Given the description of an element on the screen output the (x, y) to click on. 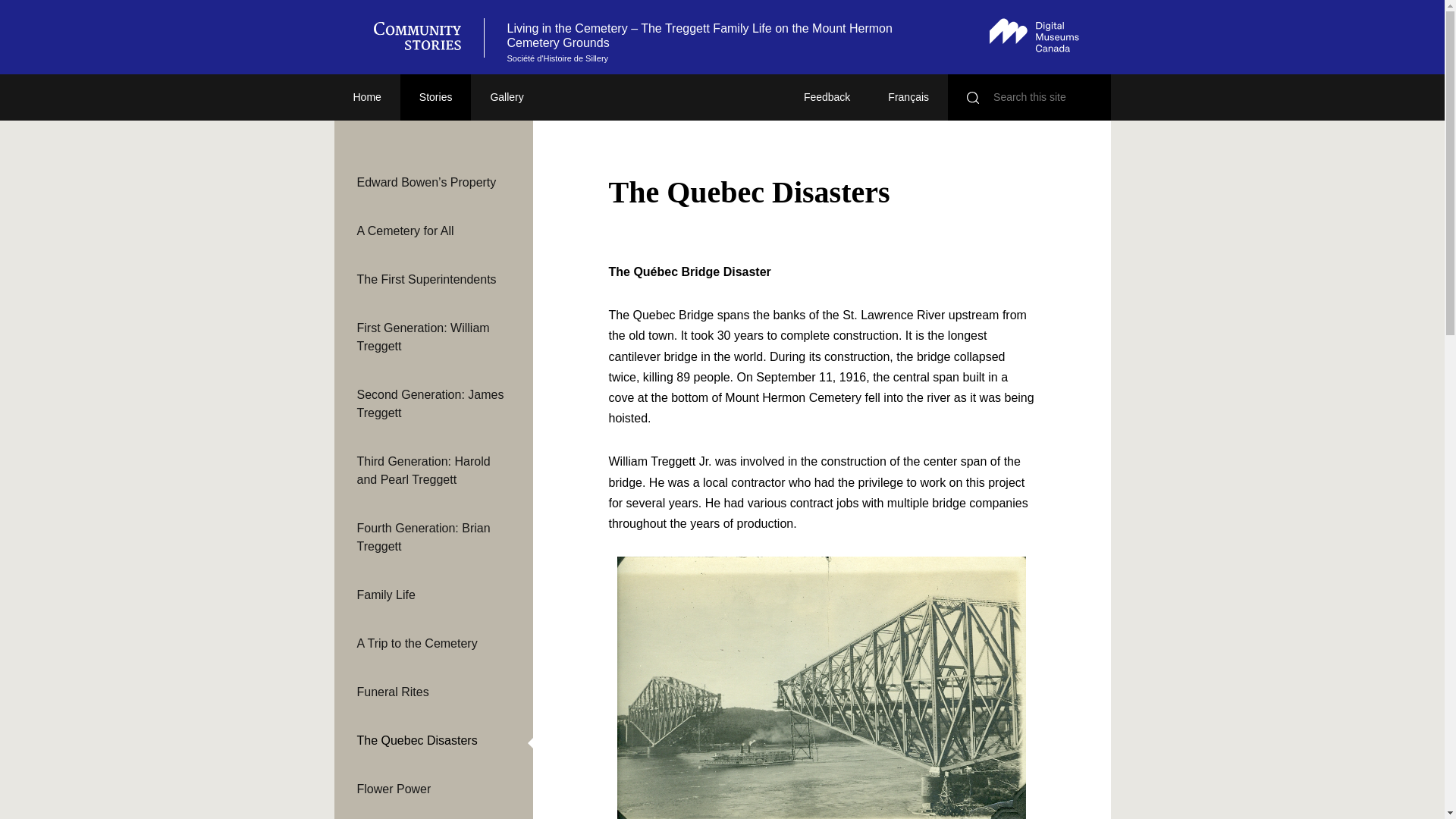
Second Generation: James Treggett (432, 403)
Digital Museums Canada (1034, 35)
Home (365, 97)
Third Generation: Harold and Pearl Treggett (432, 470)
Feedback (826, 97)
Stories (435, 97)
The First Superintendents (432, 280)
First Generation: William Treggett (432, 337)
A Cemetery for All (432, 230)
Gallery (505, 97)
Community Stories (424, 37)
